Given the description of an element on the screen output the (x, y) to click on. 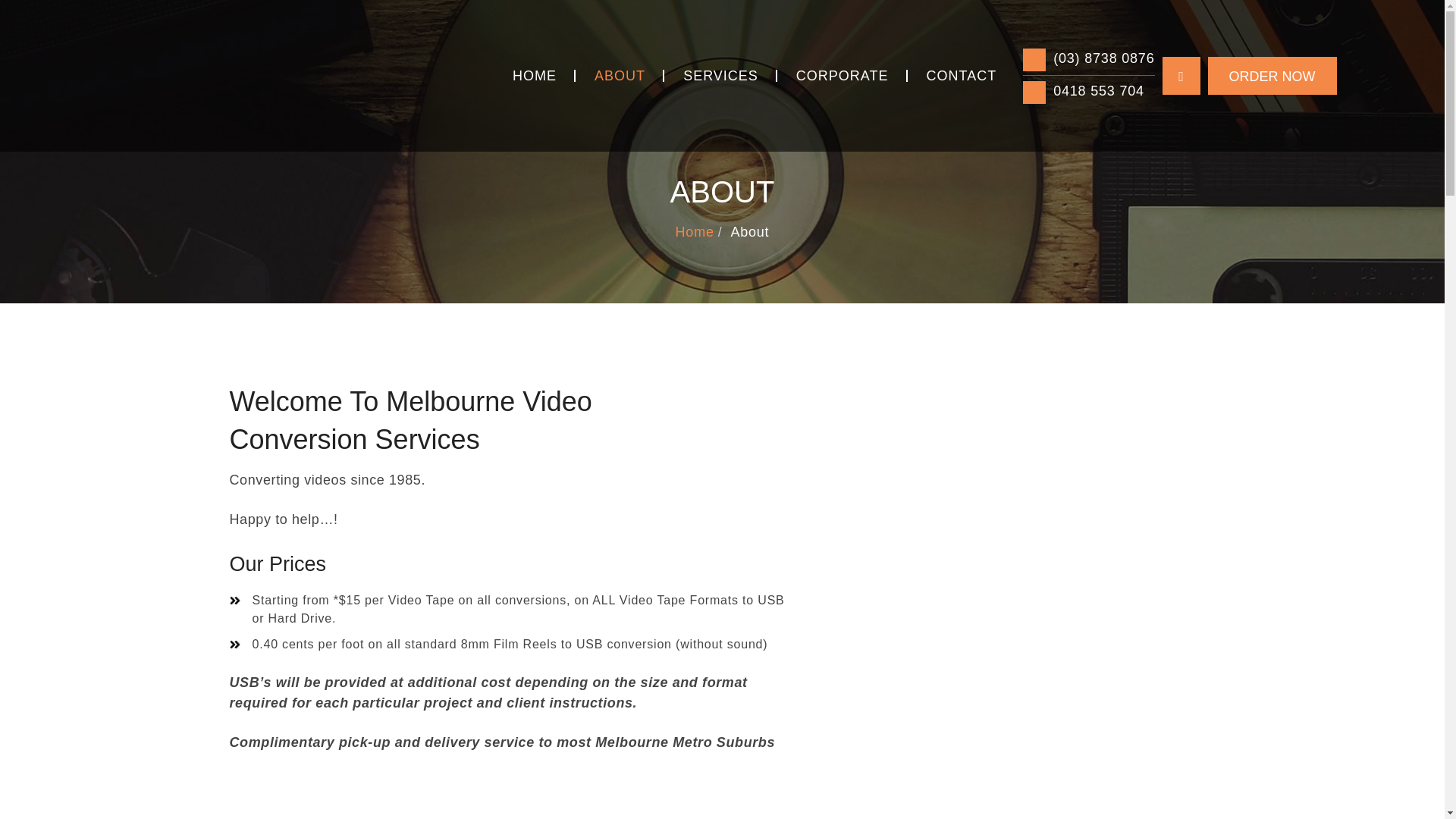
CORPORATE (842, 75)
CONTACT (961, 75)
ORDER NOW (1271, 75)
ABOUT (619, 75)
Home (694, 231)
Home (694, 231)
Melbourne Conversions Logo 12.6 (220, 75)
0418 553 704 (1088, 91)
HOME (534, 75)
SERVICES (720, 75)
